Given the description of an element on the screen output the (x, y) to click on. 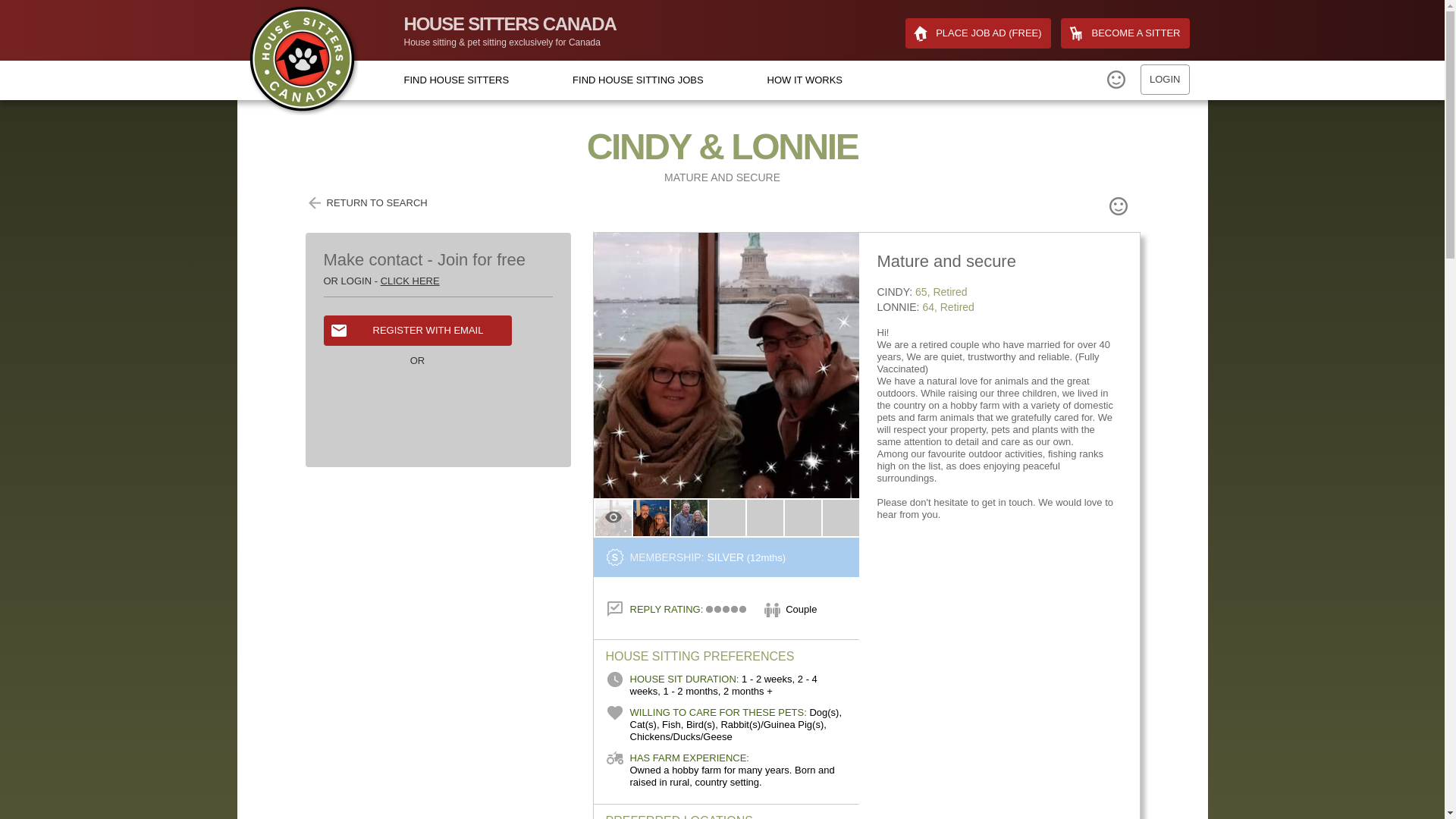
BECOME A SITTER (1125, 33)
CLICK HERE (409, 280)
RETURN TO SEARCH (365, 202)
LOGIN (1164, 79)
FIND HOUSE SITTERS (455, 79)
REGISTER WITH EMAIL (417, 330)
FIND HOUSE SITTING JOBS (637, 79)
HOW IT WORKS (805, 79)
